Given the description of an element on the screen output the (x, y) to click on. 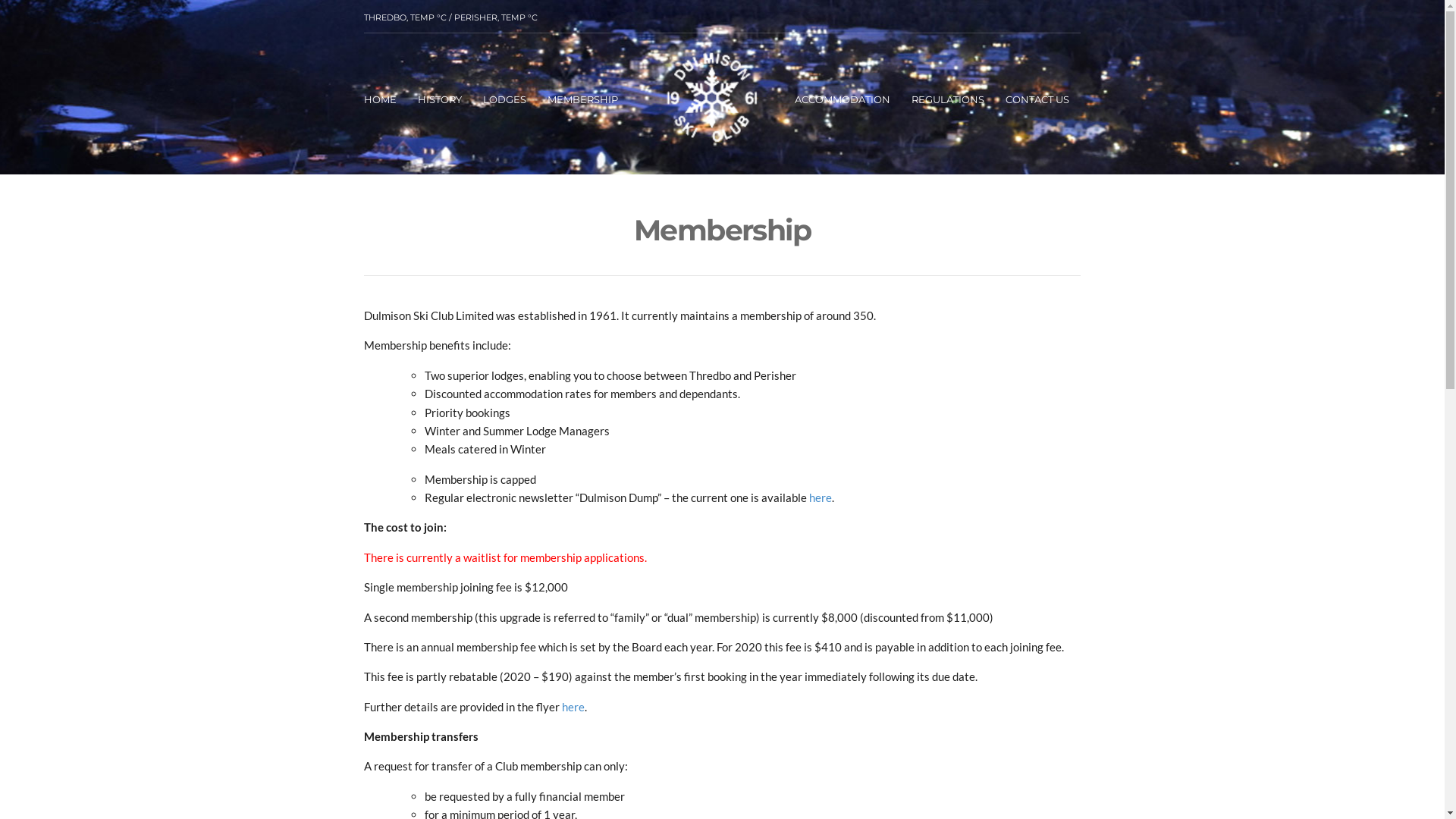
CONTACT US Element type: text (1037, 101)
here Element type: text (820, 497)
here Element type: text (572, 706)
HOME Element type: text (380, 101)
MEMBERSHIP Element type: text (582, 101)
ACCOMMODATION Element type: text (842, 101)
HISTORY Element type: text (439, 101)
REGULATIONS Element type: text (947, 101)
LODGES Element type: text (504, 101)
